Given the description of an element on the screen output the (x, y) to click on. 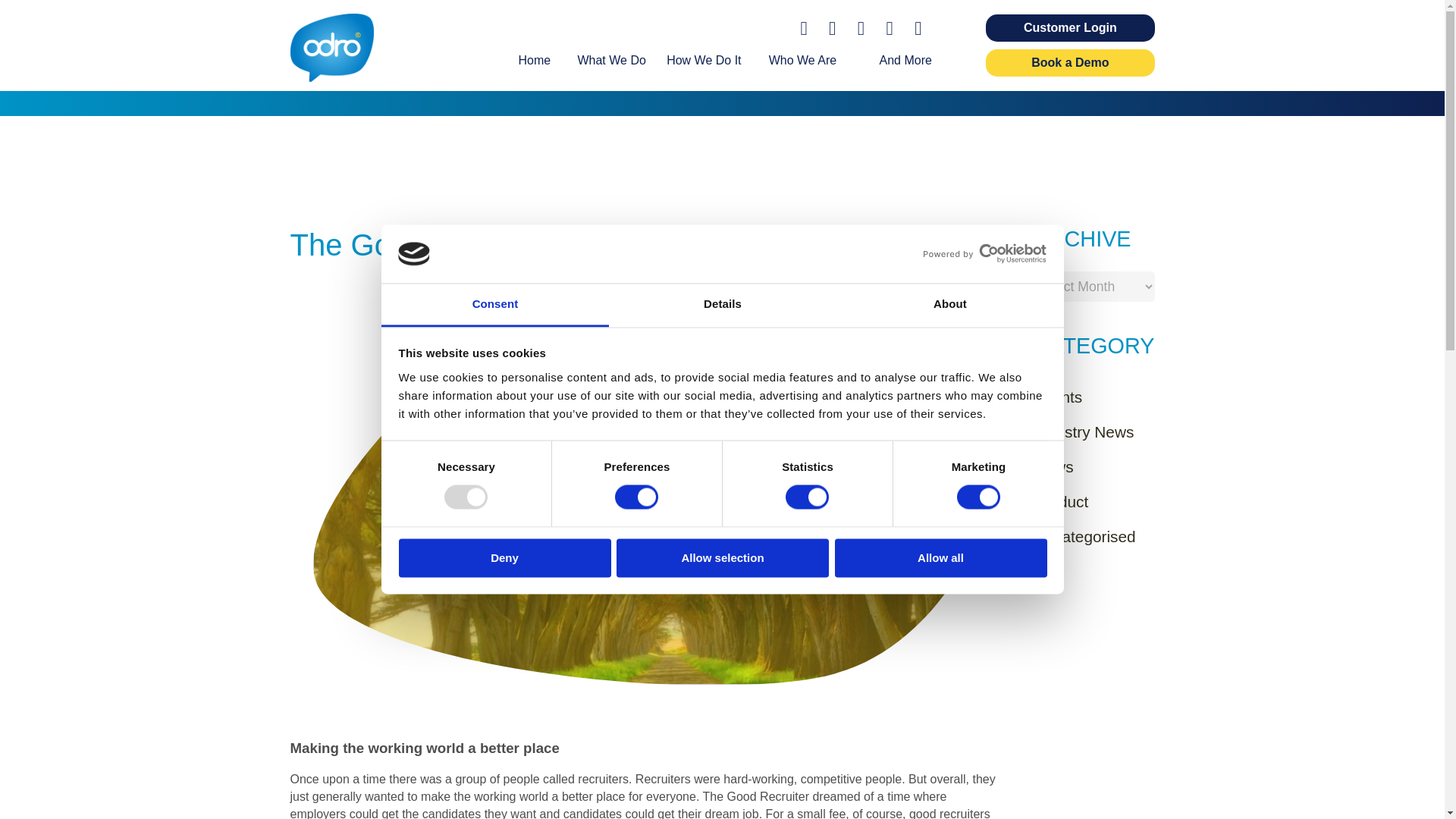
Consent (494, 304)
About (948, 304)
Details (721, 304)
